Given the description of an element on the screen output the (x, y) to click on. 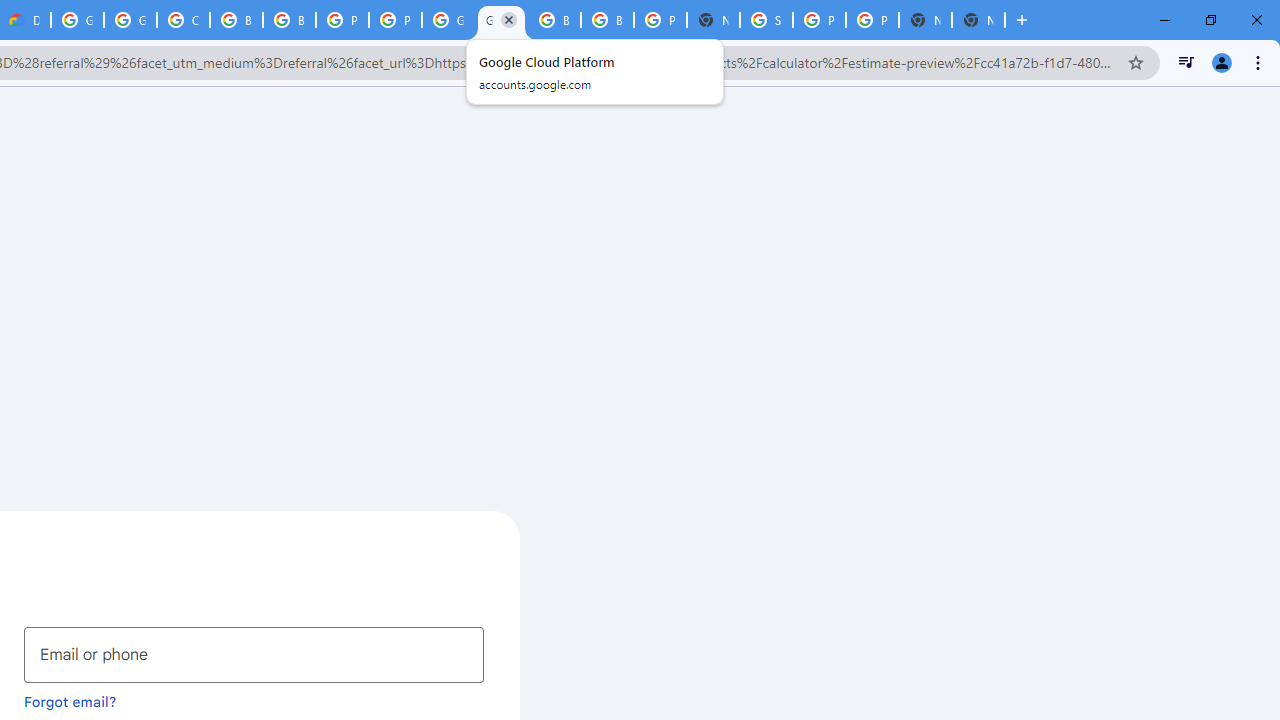
Browse Chrome as a guest - Computer - Google Chrome Help (607, 20)
Forgot email? (70, 701)
Google Cloud Platform (448, 20)
Browse Chrome as a guest - Computer - Google Chrome Help (554, 20)
New Tab (978, 20)
Google Cloud Platform (501, 20)
